Given the description of an element on the screen output the (x, y) to click on. 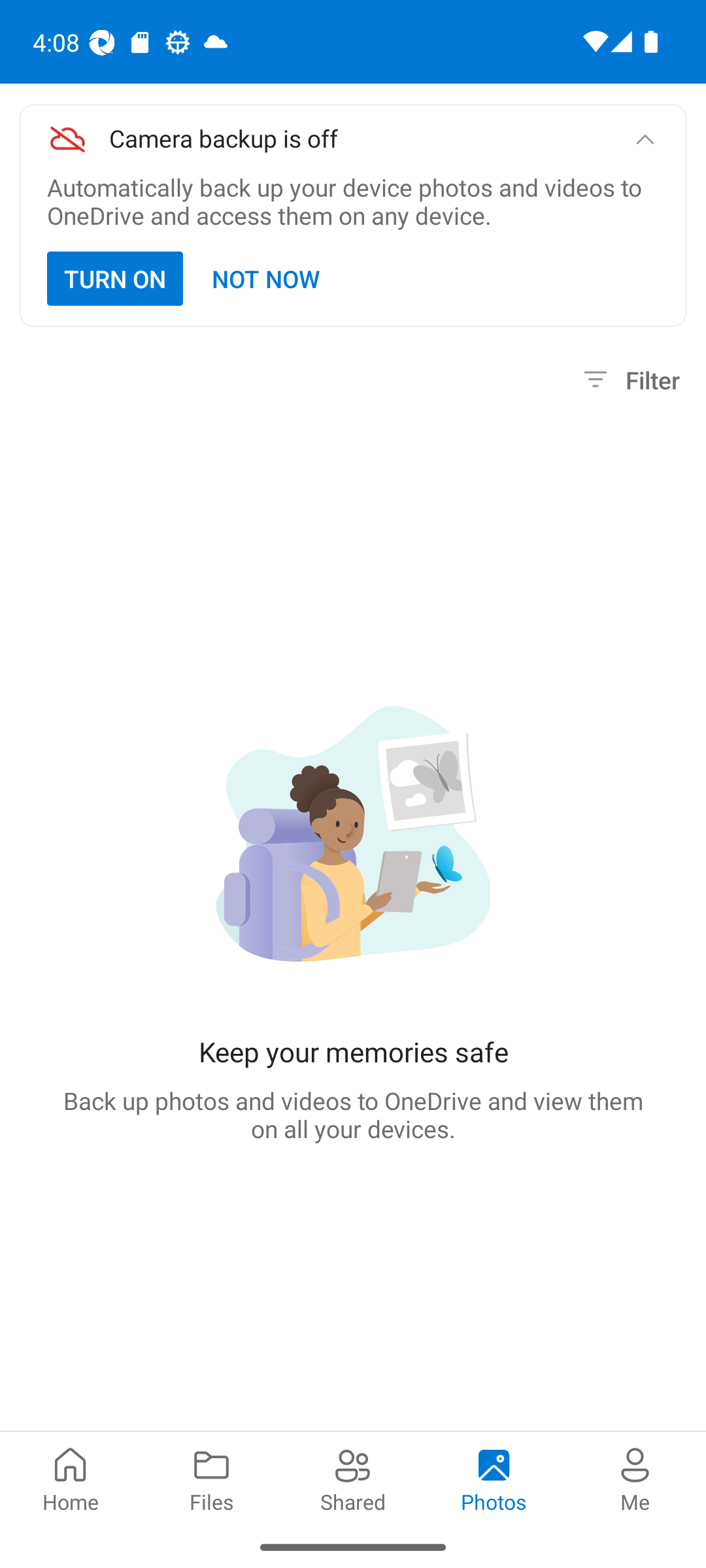
Collapse camera status banner (645, 139)
TURN ON (114, 277)
NOT NOW (266, 277)
Filter (628, 379)
Home pivot Home (70, 1478)
Files pivot Files (211, 1478)
Shared pivot Shared (352, 1478)
Me pivot Me (635, 1478)
